Given the description of an element on the screen output the (x, y) to click on. 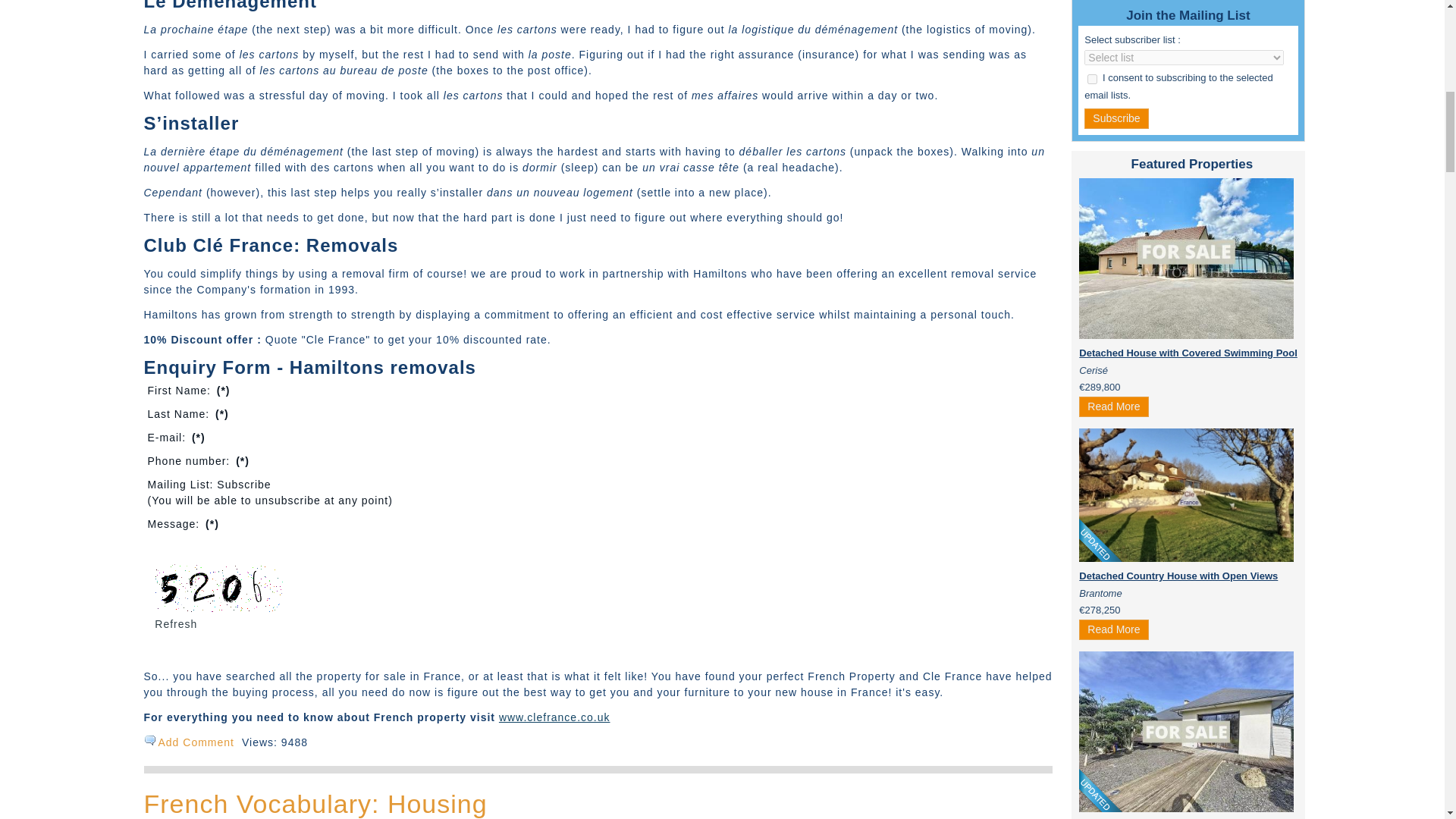
Cle France website (554, 717)
